Given the description of an element on the screen output the (x, y) to click on. 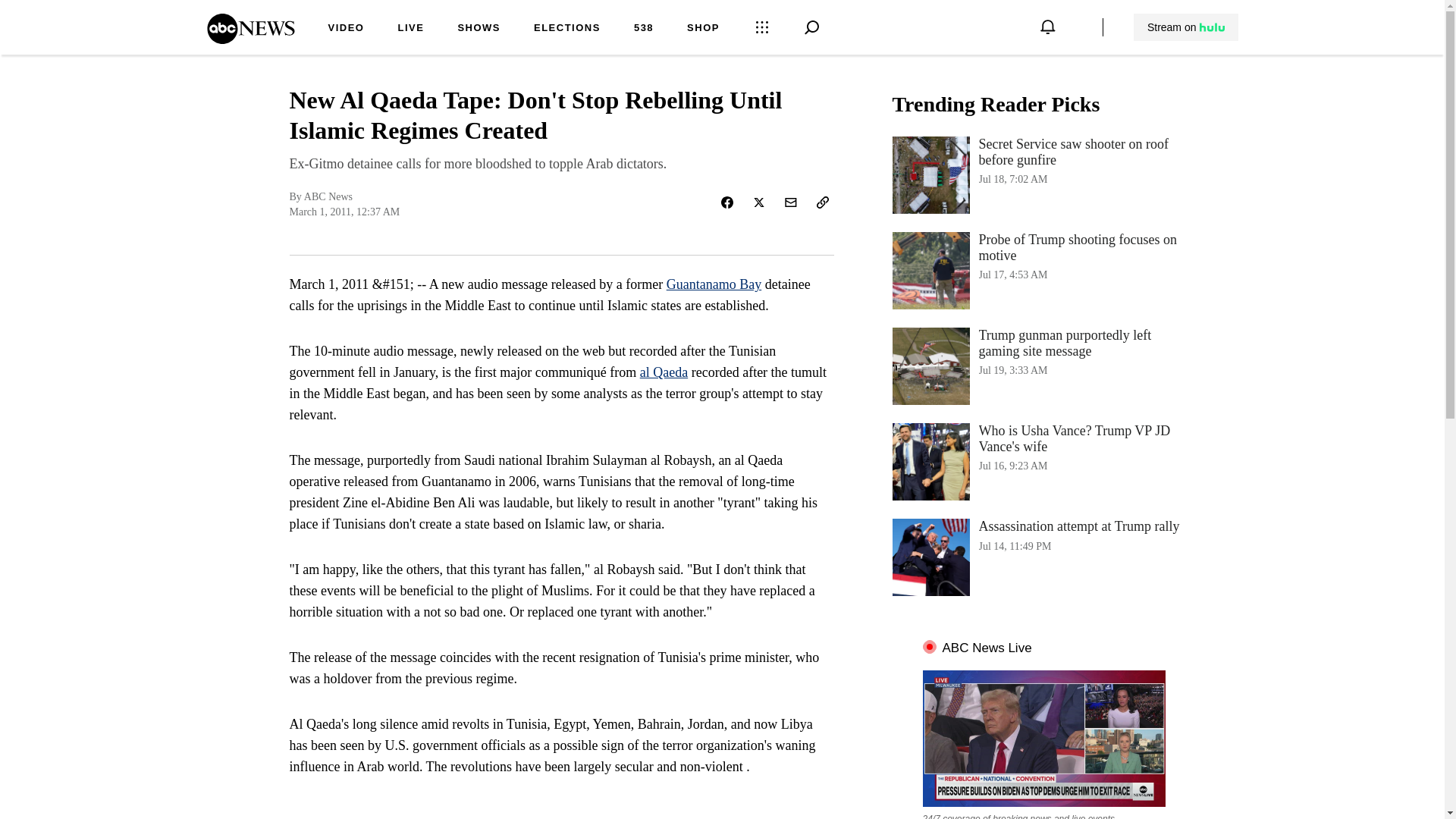
Stream on (1186, 26)
ABC News (250, 38)
ELECTIONS (566, 28)
538 (643, 28)
SHOP (703, 28)
VIDEO (345, 28)
Stream on (1185, 27)
Guantanamo Bay (713, 283)
LIVE (410, 28)
al Qaeda (663, 372)
SHOWS (478, 28)
